Given the description of an element on the screen output the (x, y) to click on. 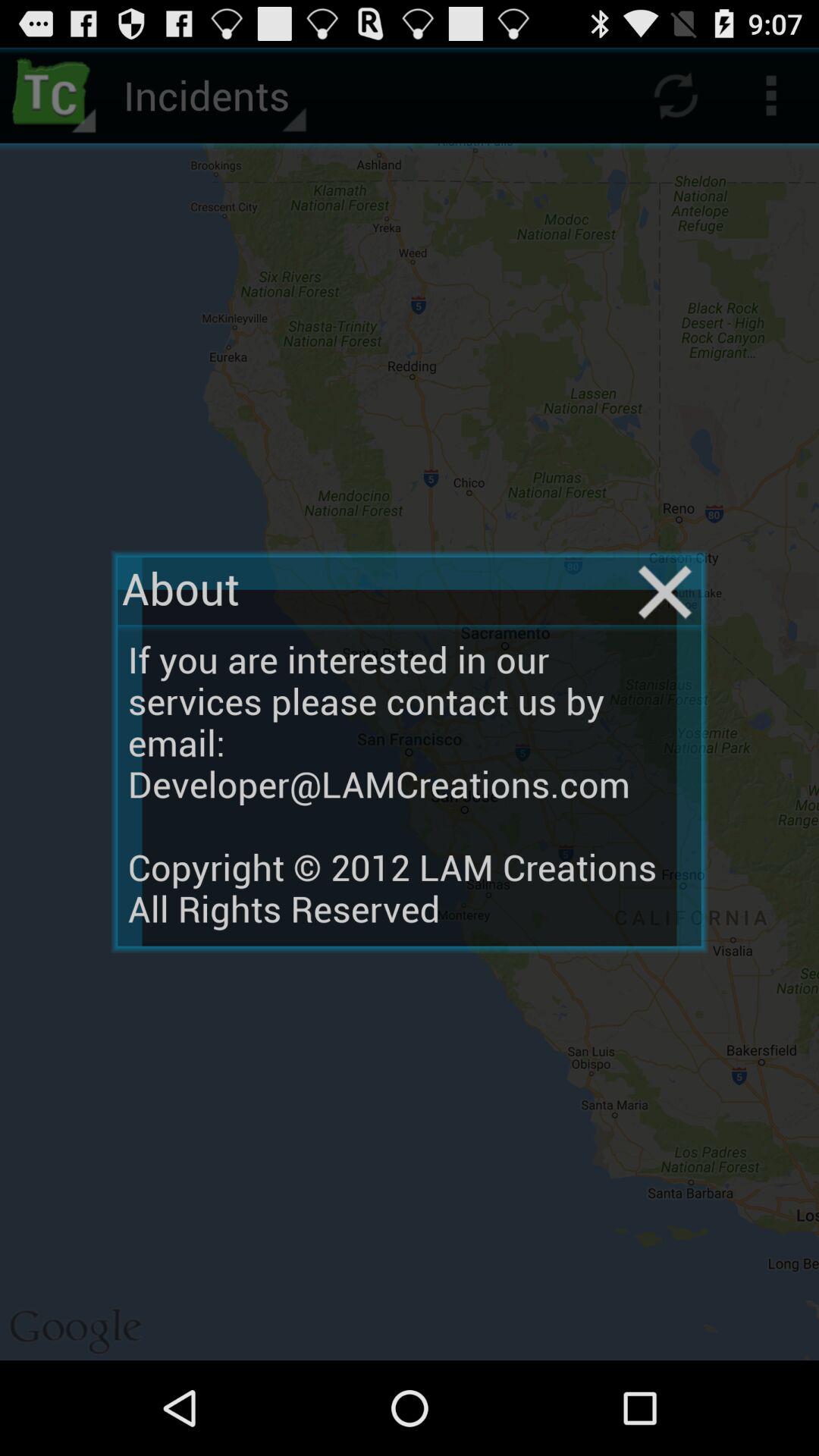
launch the app to the left of incidents item (55, 95)
